Given the description of an element on the screen output the (x, y) to click on. 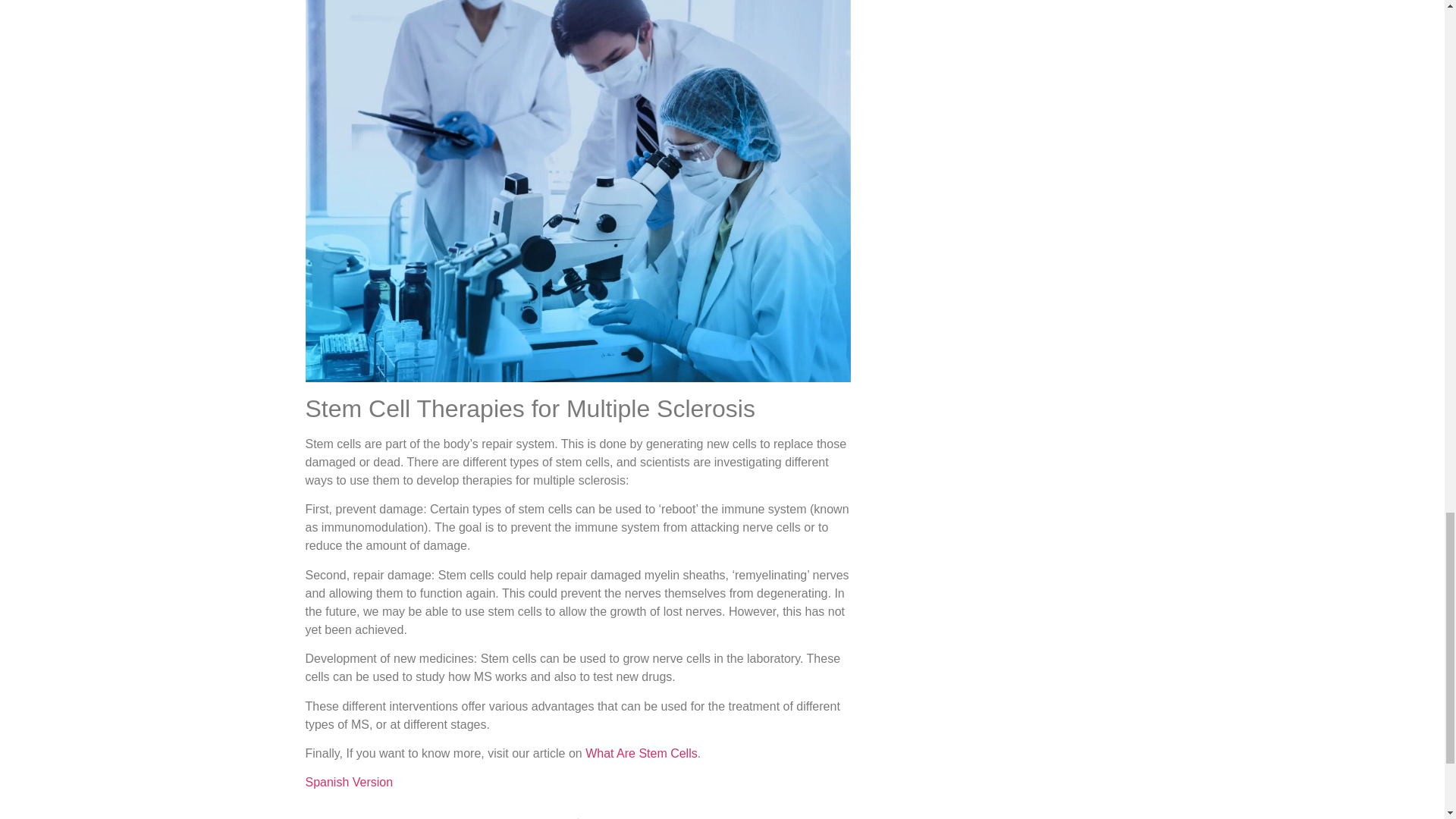
Spanish Version (348, 781)
What Are Stem Cells (641, 753)
